Given the description of an element on the screen output the (x, y) to click on. 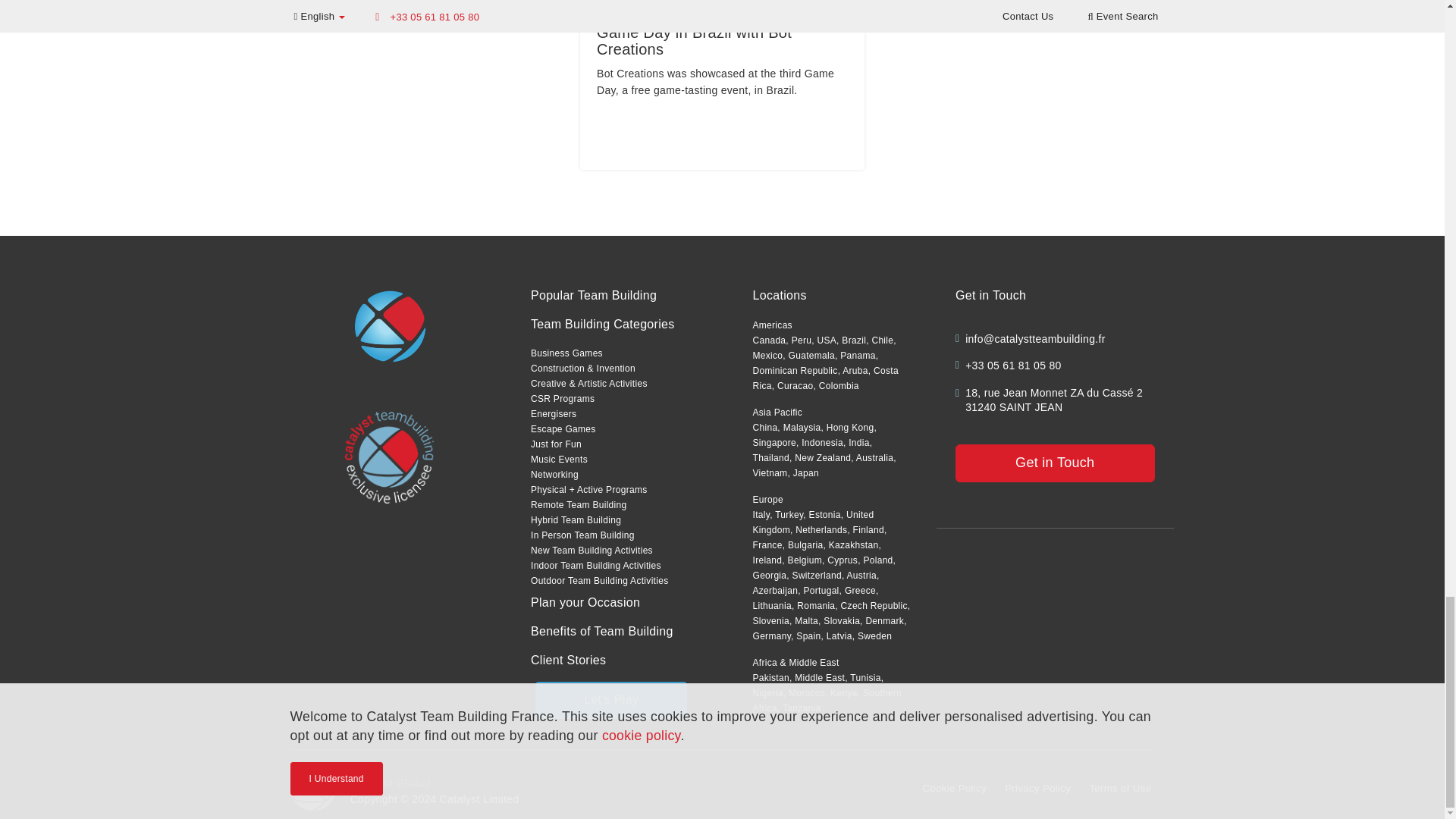
Team Building Categories (603, 323)
Business Games (566, 353)
Networking (554, 474)
Popular Team Building (593, 295)
Music Events (559, 459)
Just for Fun (555, 443)
Escape Games (563, 429)
Hybrid Team Building (576, 520)
Remote Team Building (579, 504)
Energisers (553, 413)
